Given the description of an element on the screen output the (x, y) to click on. 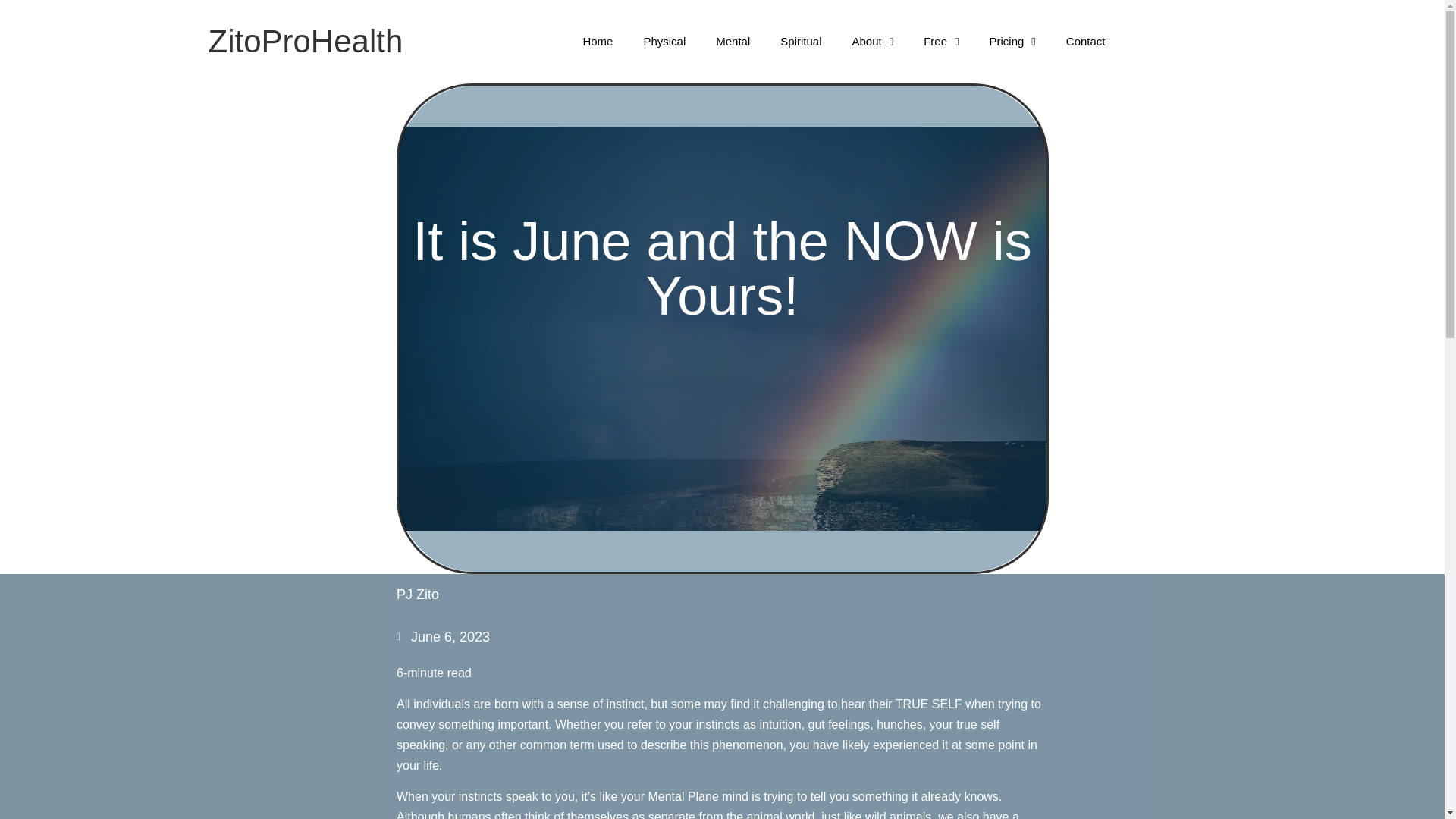
Home (597, 41)
ZitoProHealth (305, 40)
Pricing (1011, 41)
Free (941, 41)
Spiritual (800, 41)
Physical (663, 41)
About (871, 41)
Mental (732, 41)
Contact (1086, 41)
